Given the description of an element on the screen output the (x, y) to click on. 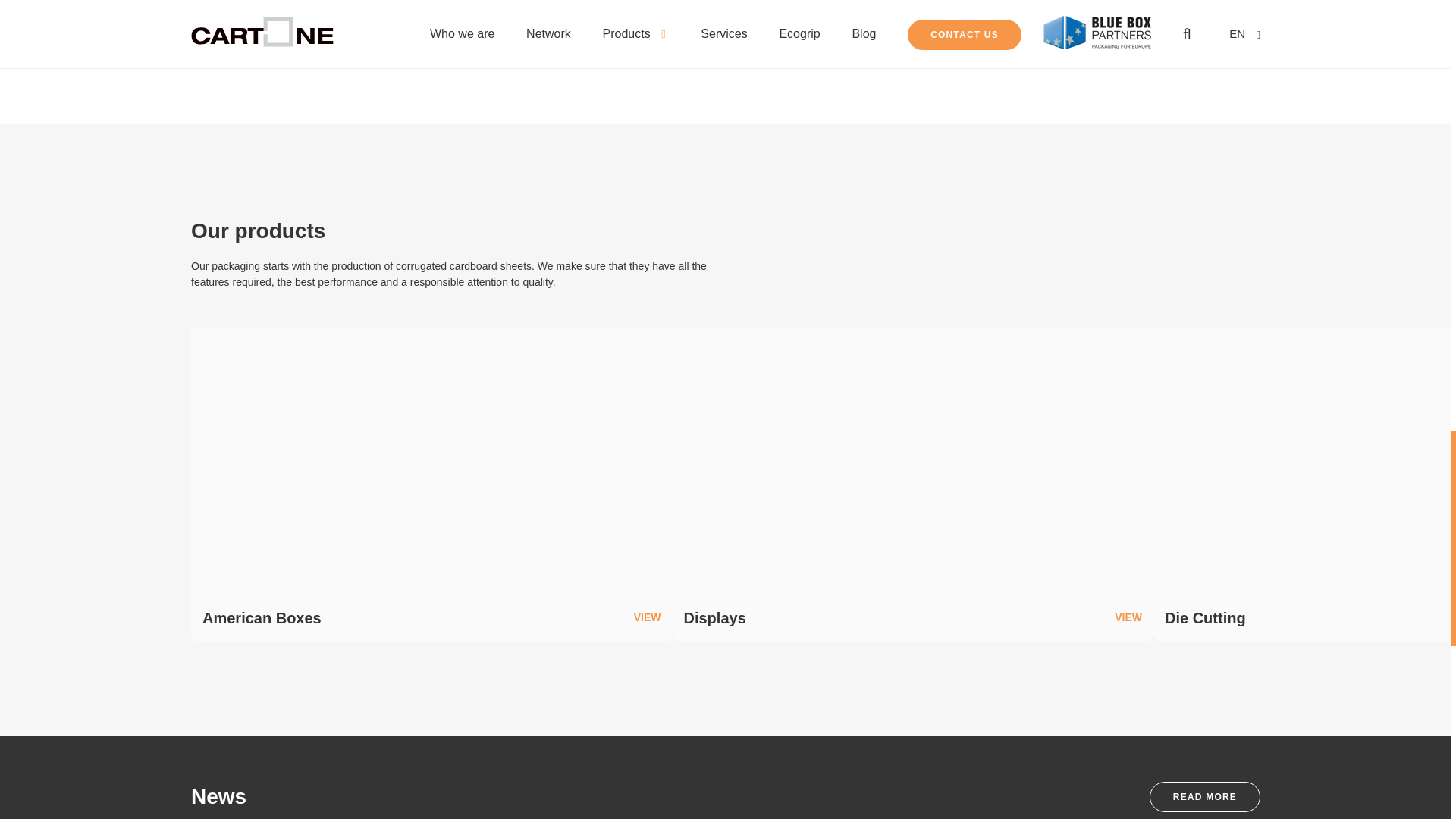
Who we are (452, 14)
Services (998, 14)
